Given the description of an element on the screen output the (x, y) to click on. 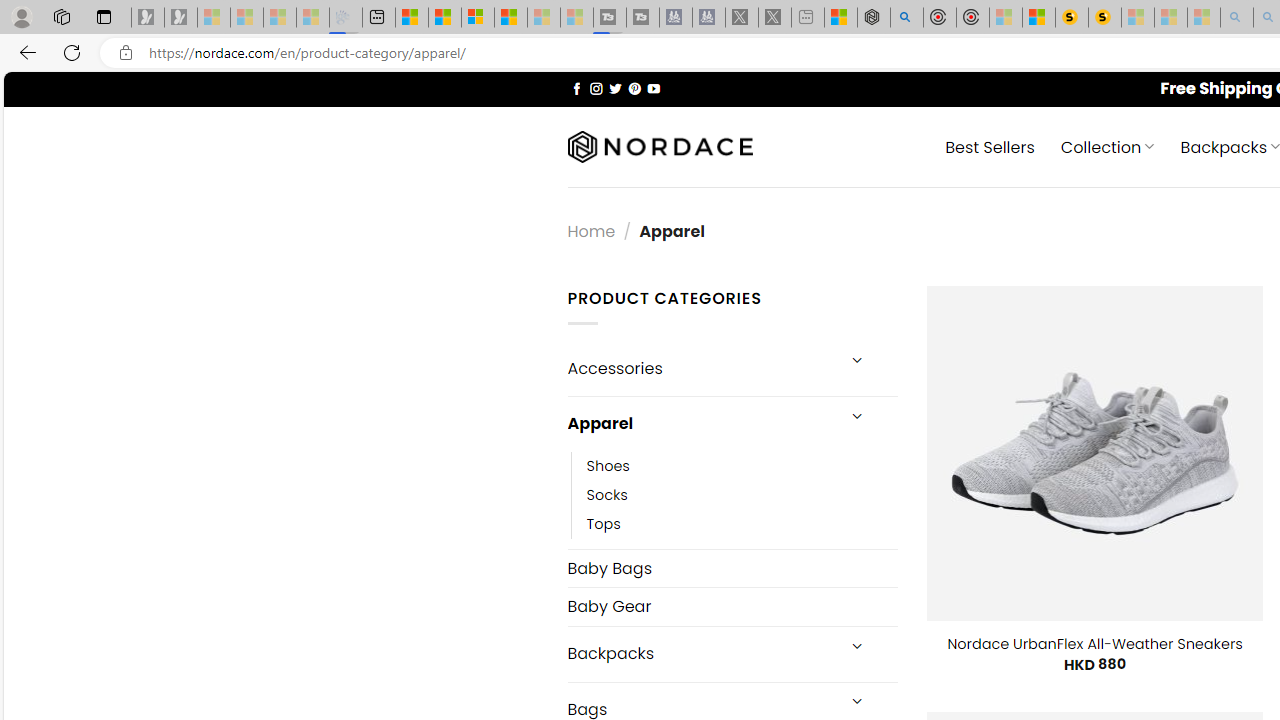
Follow on YouTube (653, 88)
Follow on Pinterest (634, 88)
  Best Sellers (989, 146)
Socks (607, 494)
 Best Sellers (989, 146)
